Given the description of an element on the screen output the (x, y) to click on. 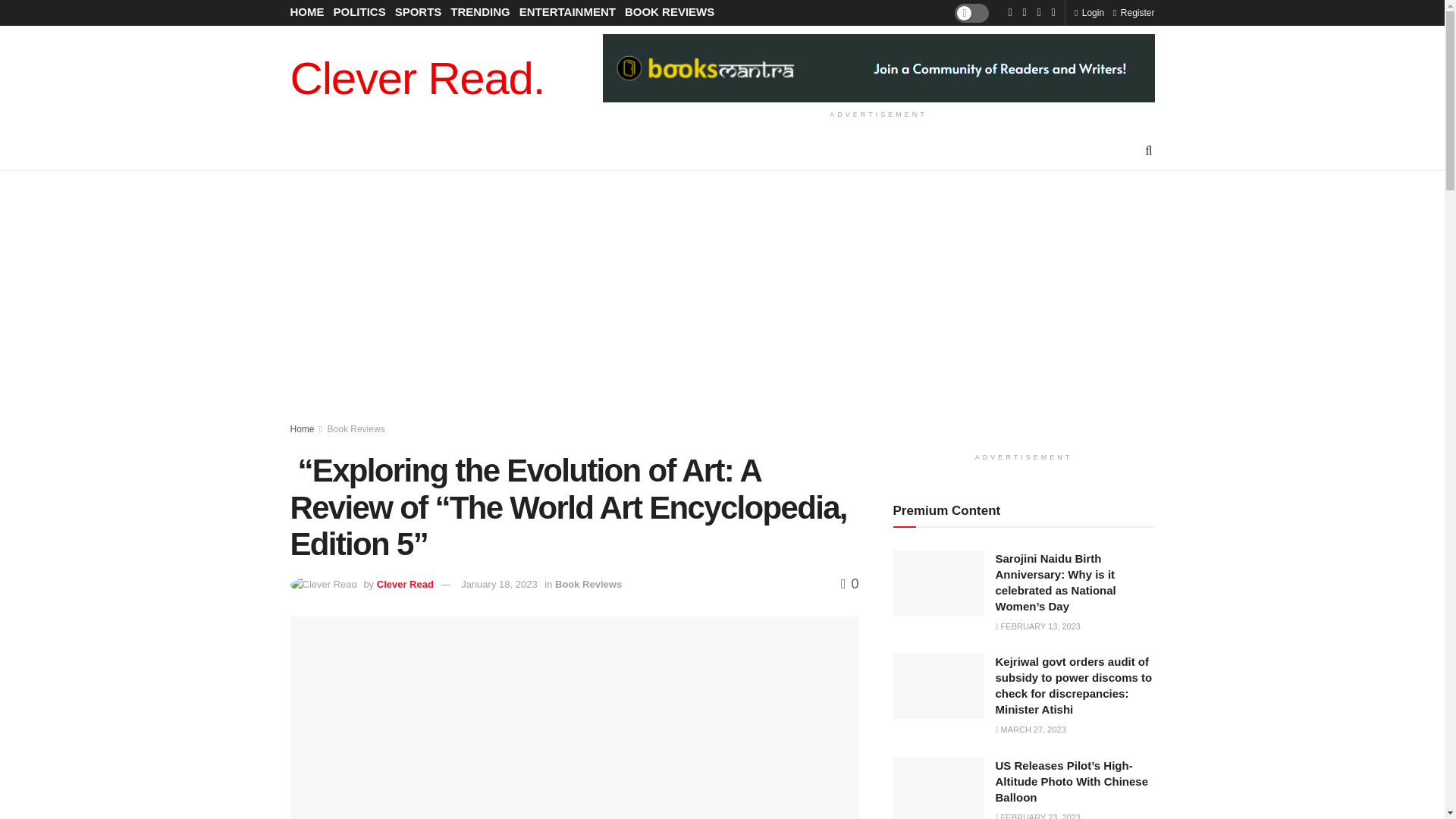
Home (301, 429)
ENTERTAINMENT (567, 11)
HOME (306, 11)
SPORTS (418, 11)
POLITICS (359, 11)
0 (850, 583)
Book Reviews (356, 429)
Login (1088, 12)
Clever Read. (416, 78)
Register (1133, 12)
TRENDING (479, 11)
Clever Read (405, 583)
Book Reviews (587, 583)
January 18, 2023 (499, 583)
BOOK REVIEWS (669, 11)
